Given the description of an element on the screen output the (x, y) to click on. 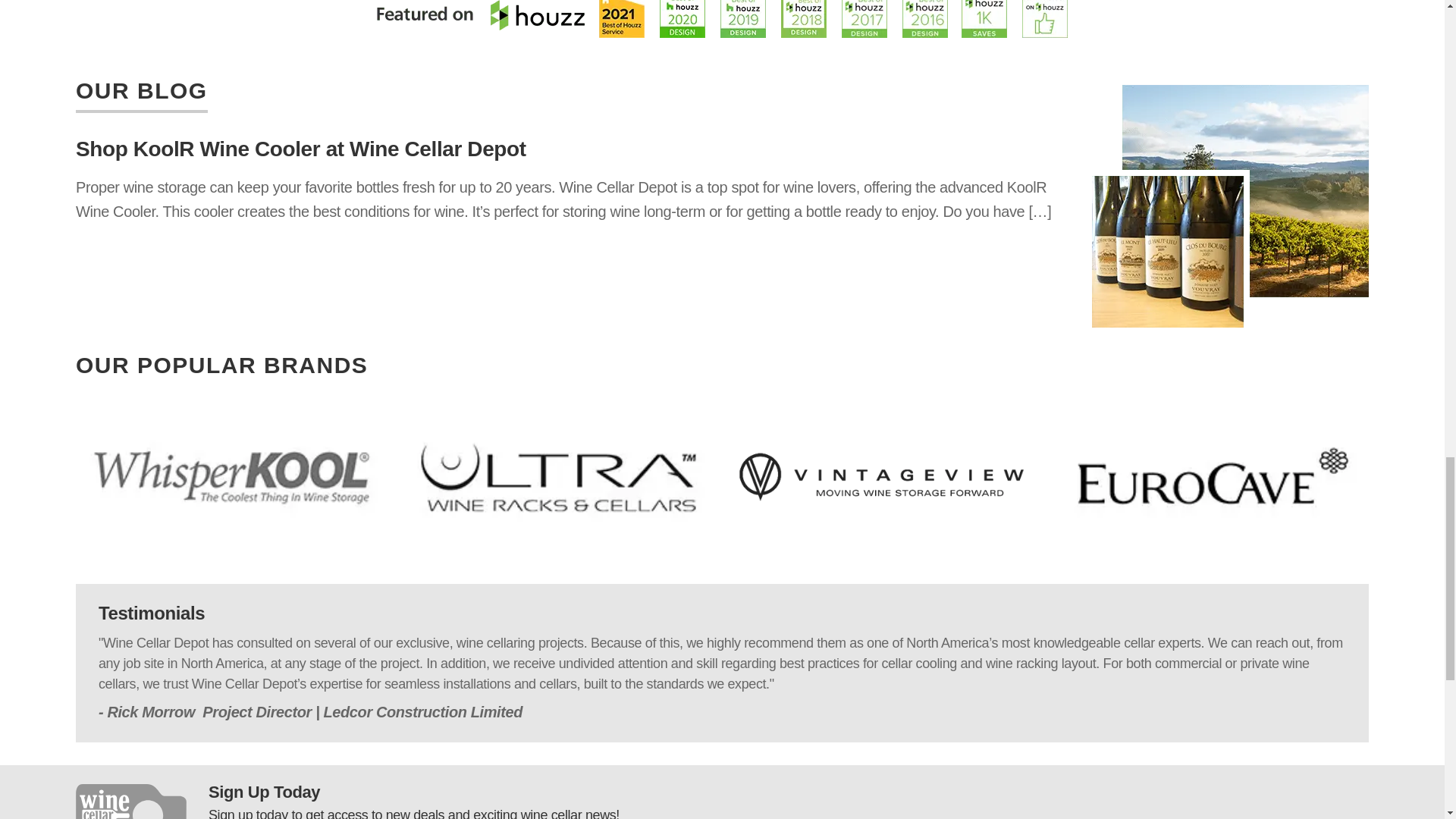
Vintage View (886, 477)
Ultra WIne Racks (558, 477)
